Given the description of an element on the screen output the (x, y) to click on. 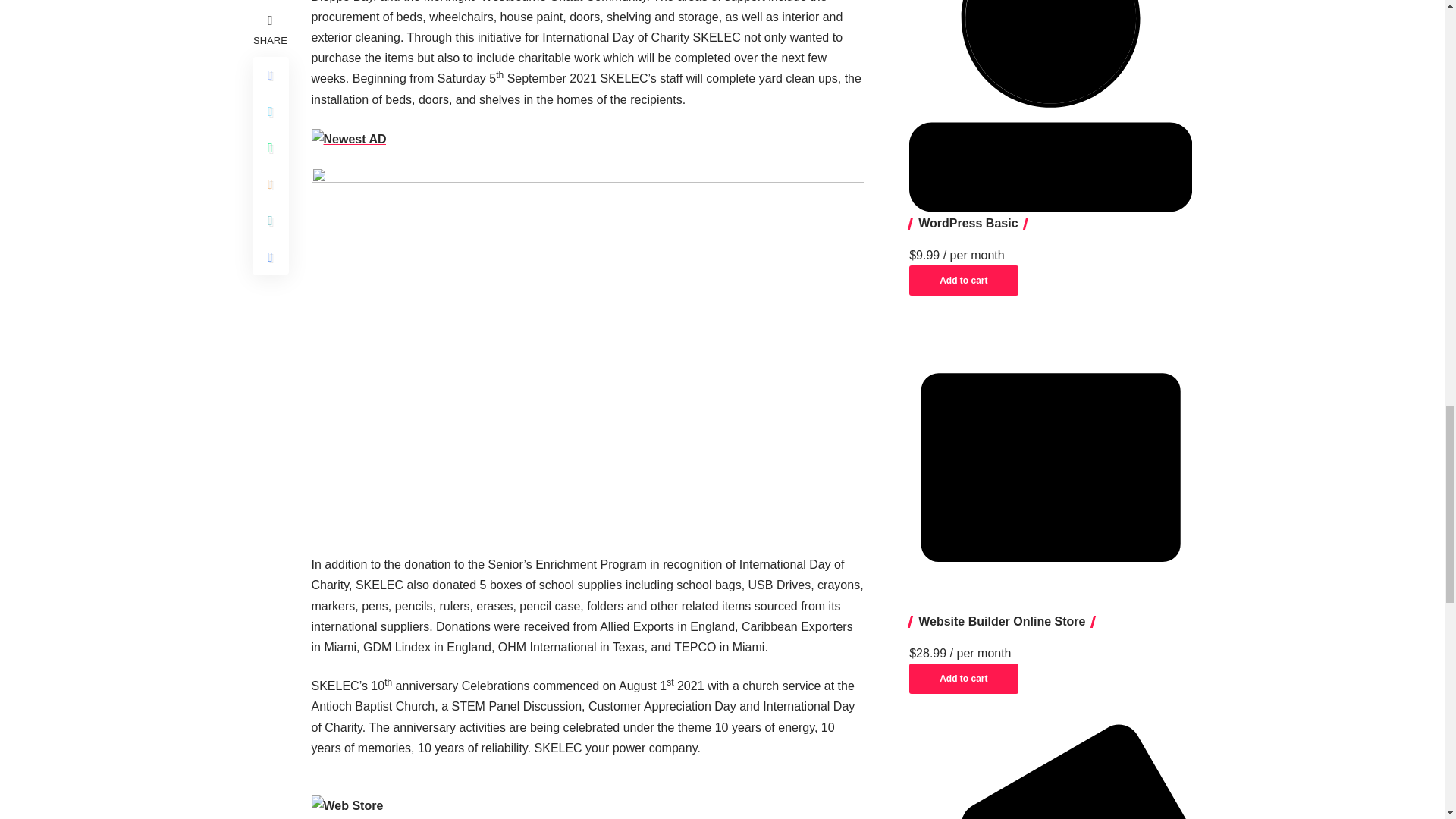
Website Builder (1050, 467)
Email Marketing (1050, 771)
WordPress (1050, 106)
